Given the description of an element on the screen output the (x, y) to click on. 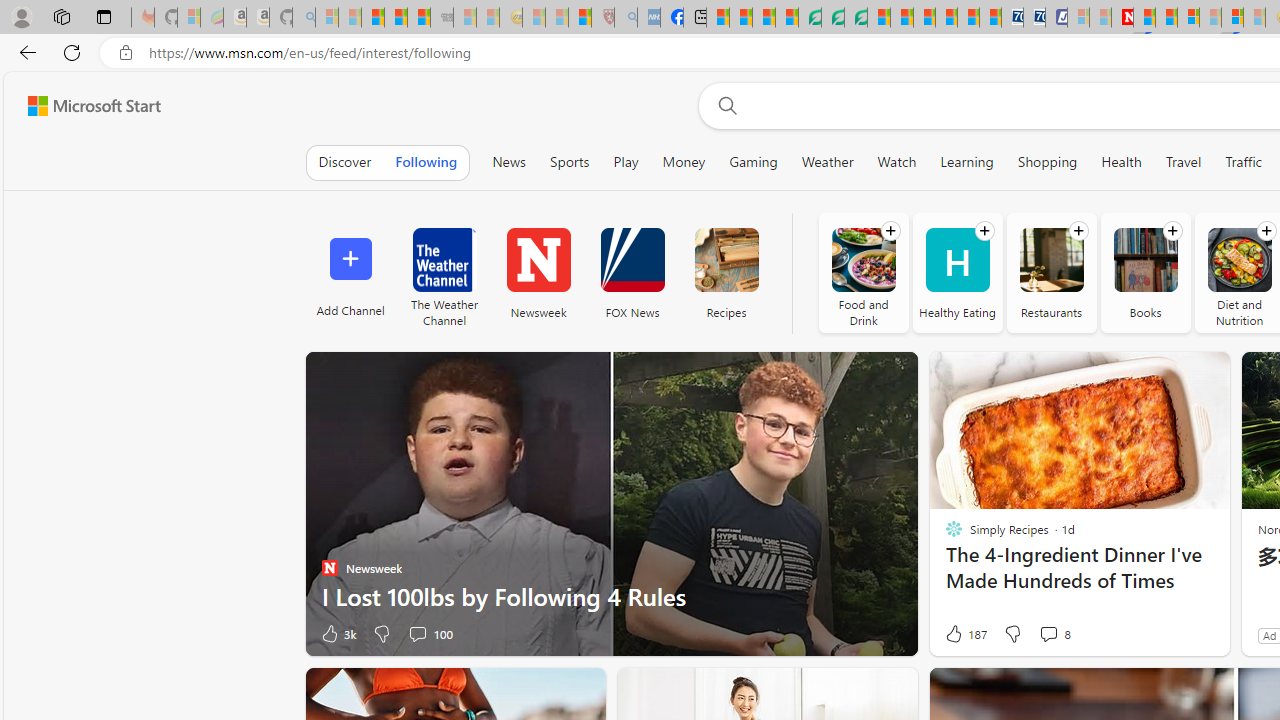
New Report Confirms 2023 Was Record Hot | Watch (419, 17)
View comments 8 Comment (1048, 633)
Books (1145, 260)
Sports (569, 162)
Books (1144, 272)
Latest Politics News & Archive | Newsweek.com (1122, 17)
Hide this story (544, 691)
Newsweek (537, 272)
14 Common Myths Debunked By Scientific Facts (1166, 17)
